Given the description of an element on the screen output the (x, y) to click on. 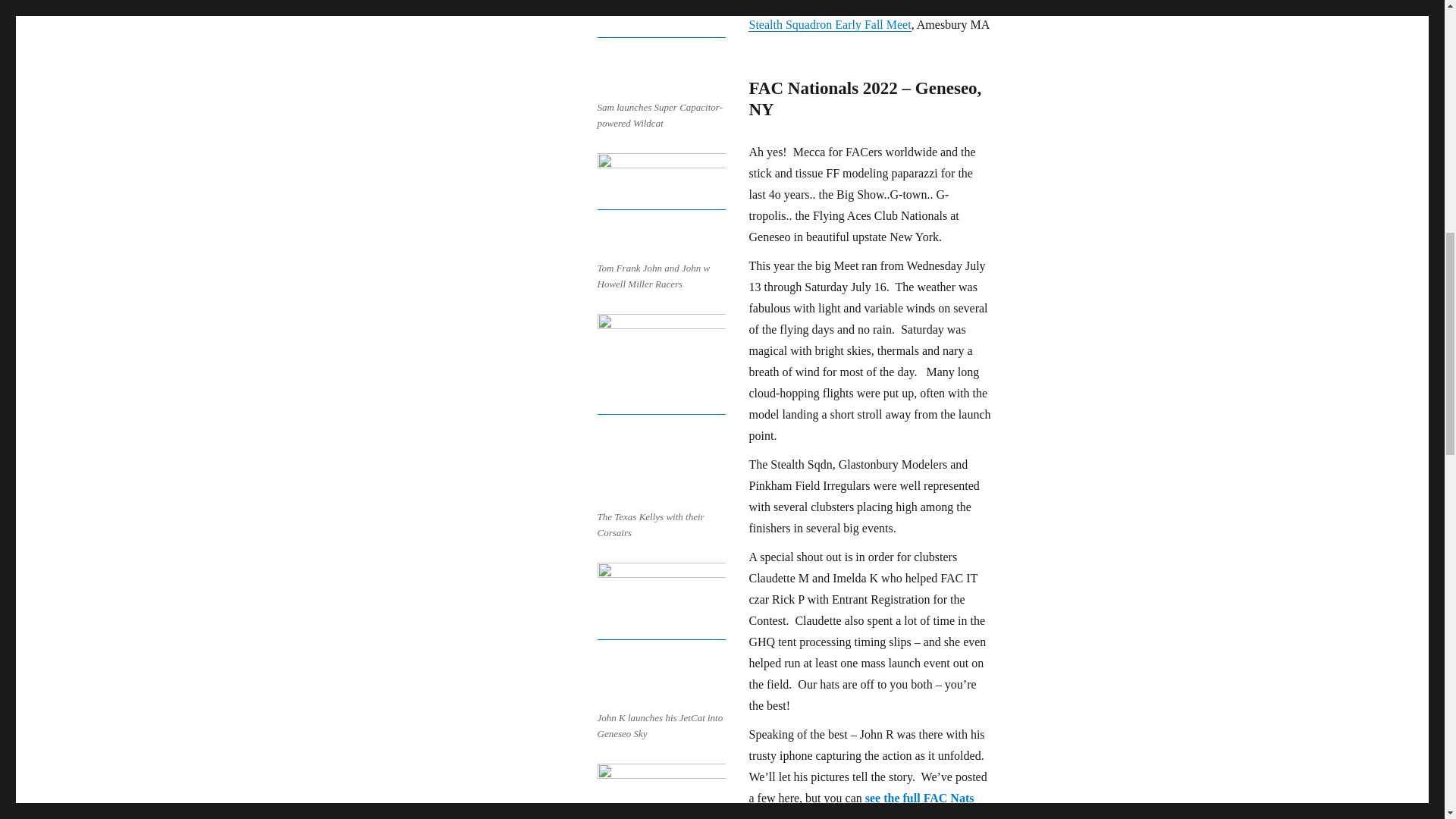
see the full FAC Nats 2022 collection HERE (861, 805)
